Given the description of an element on the screen output the (x, y) to click on. 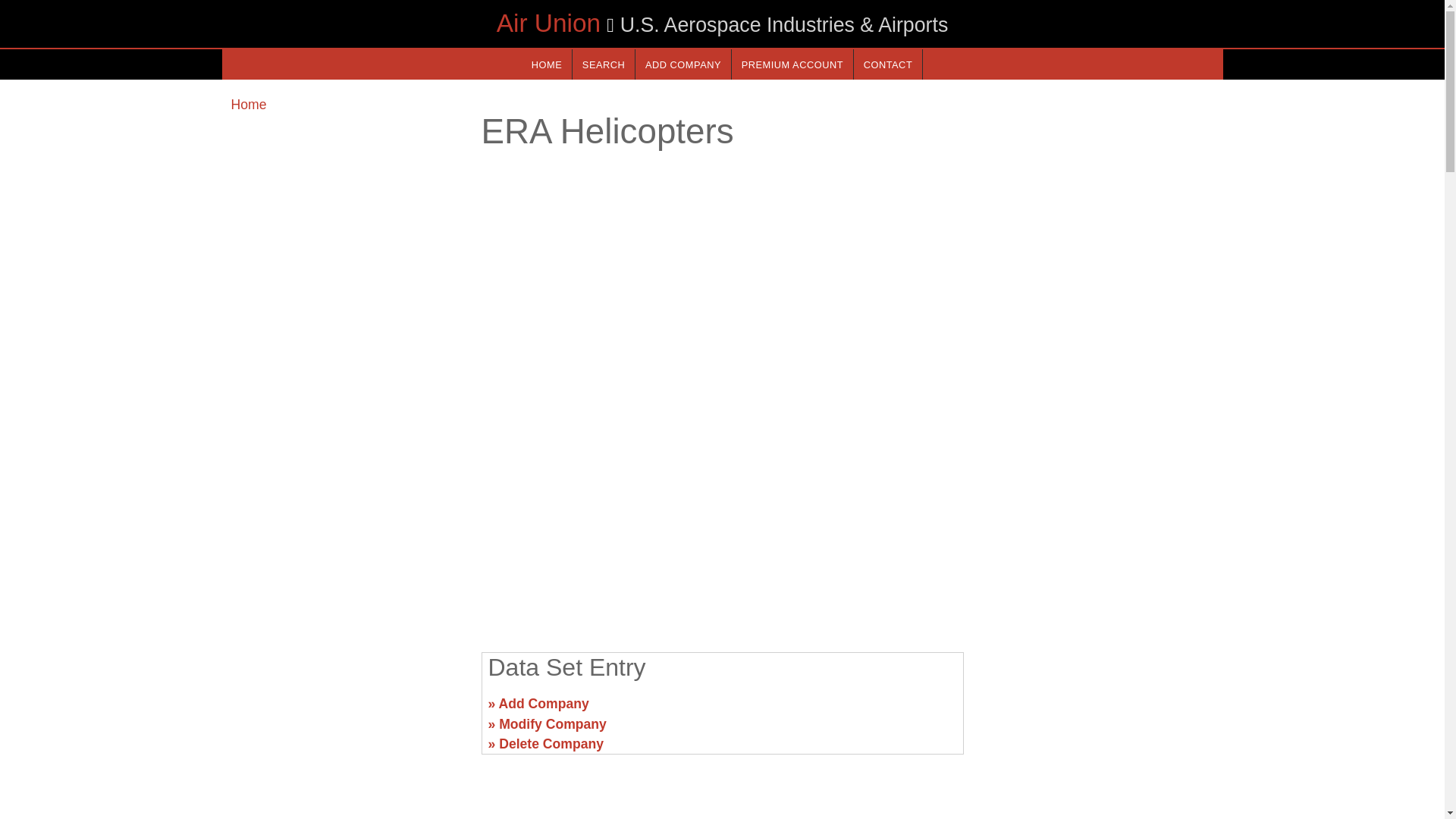
PREMIUM ACCOUNT (792, 64)
Advertisement (346, 710)
Home (248, 104)
SEARCH (603, 64)
Add a new company (682, 64)
Search in this webseite. (603, 64)
Premium account (792, 64)
Advertisement (721, 522)
CONTACT (887, 64)
Air Union (547, 22)
ADD COMPANY (682, 64)
HOME (546, 64)
Advertisement (1096, 710)
